Given the description of an element on the screen output the (x, y) to click on. 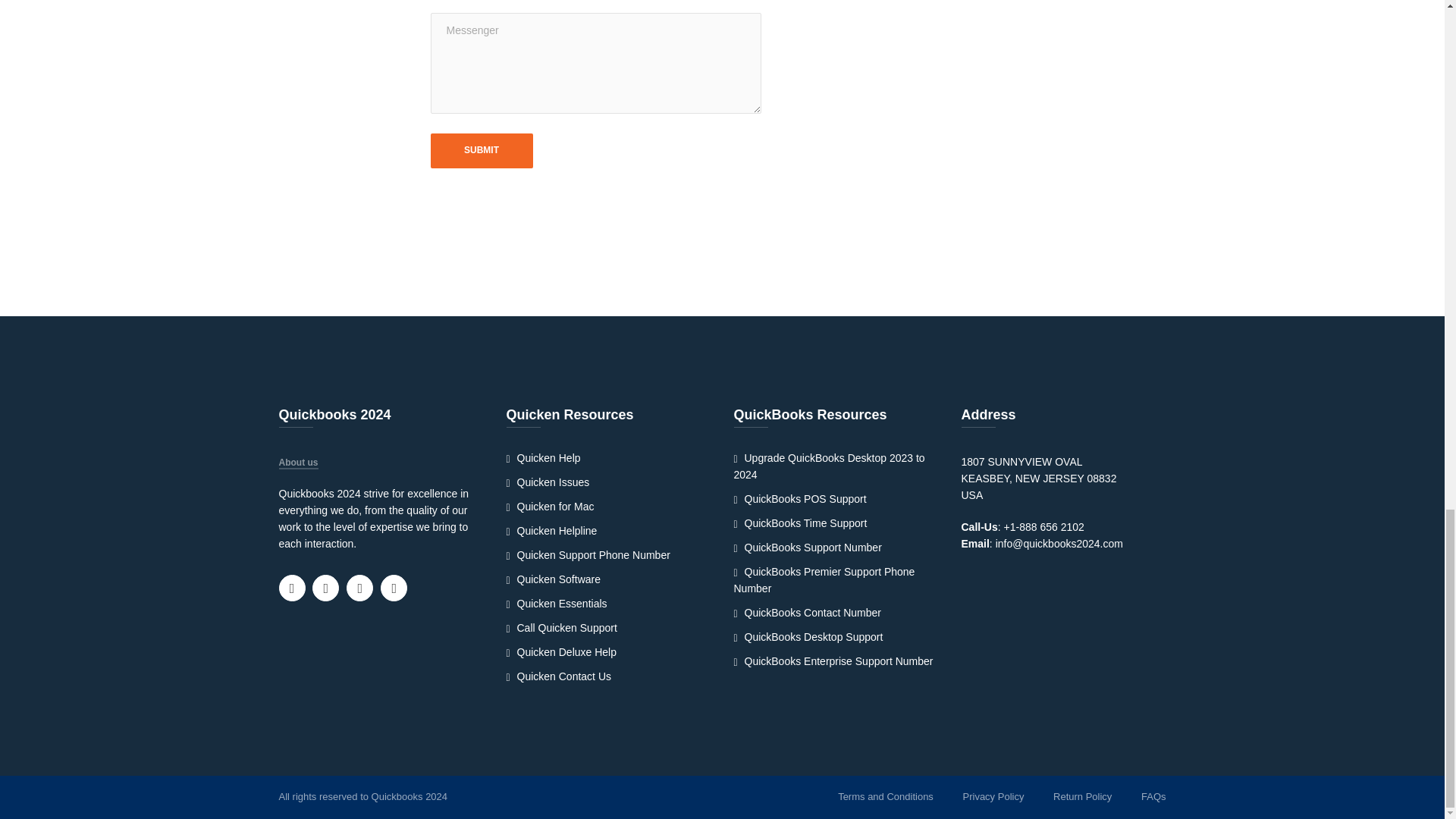
SUBMIT (481, 150)
Quicken Help (543, 458)
SUBMIT (481, 150)
About us (298, 463)
Quicken for Mac (550, 506)
Quicken Issues (547, 481)
